Given the description of an element on the screen output the (x, y) to click on. 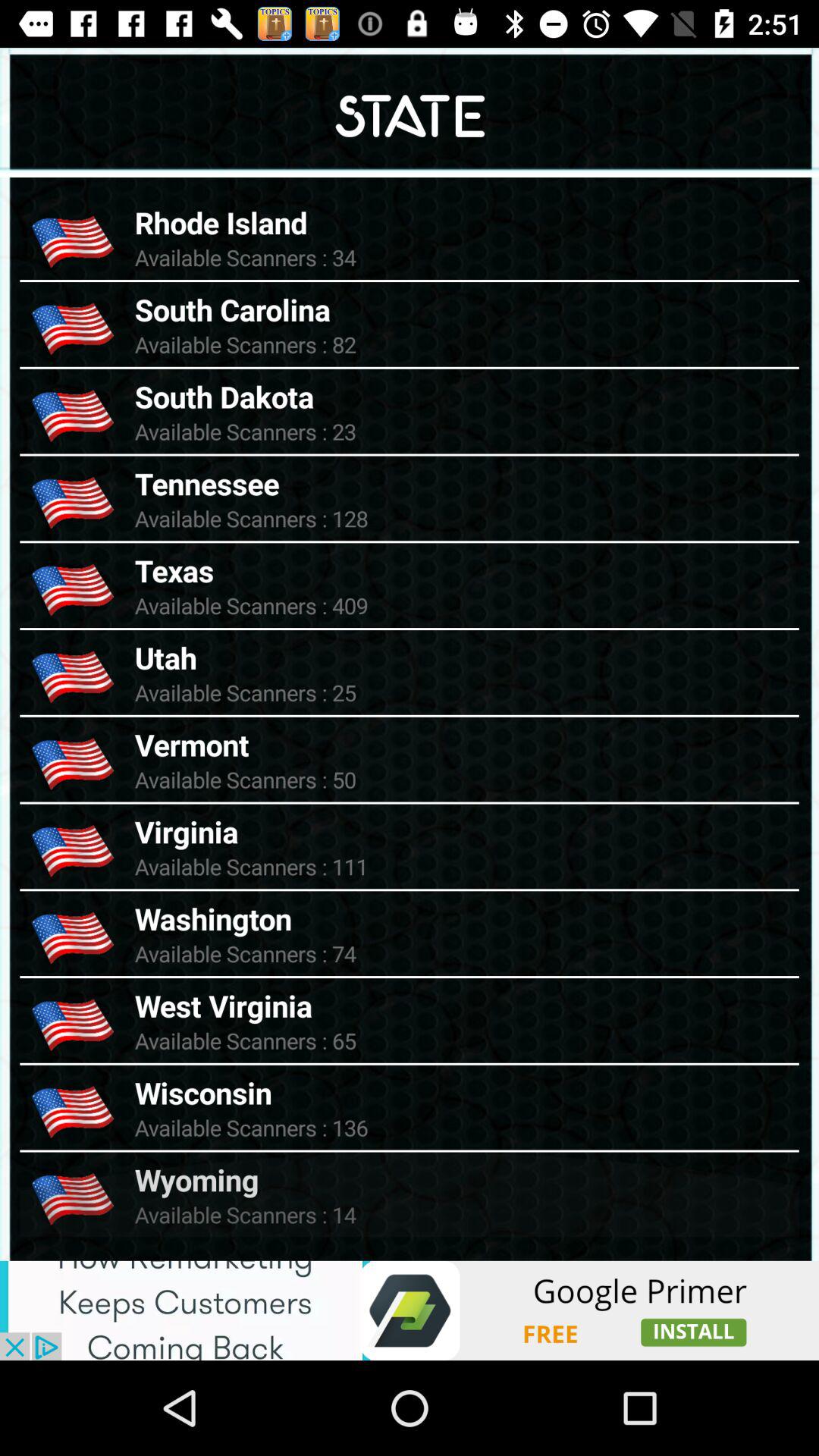
pop up advertisement (409, 1310)
